Given the description of an element on the screen output the (x, y) to click on. 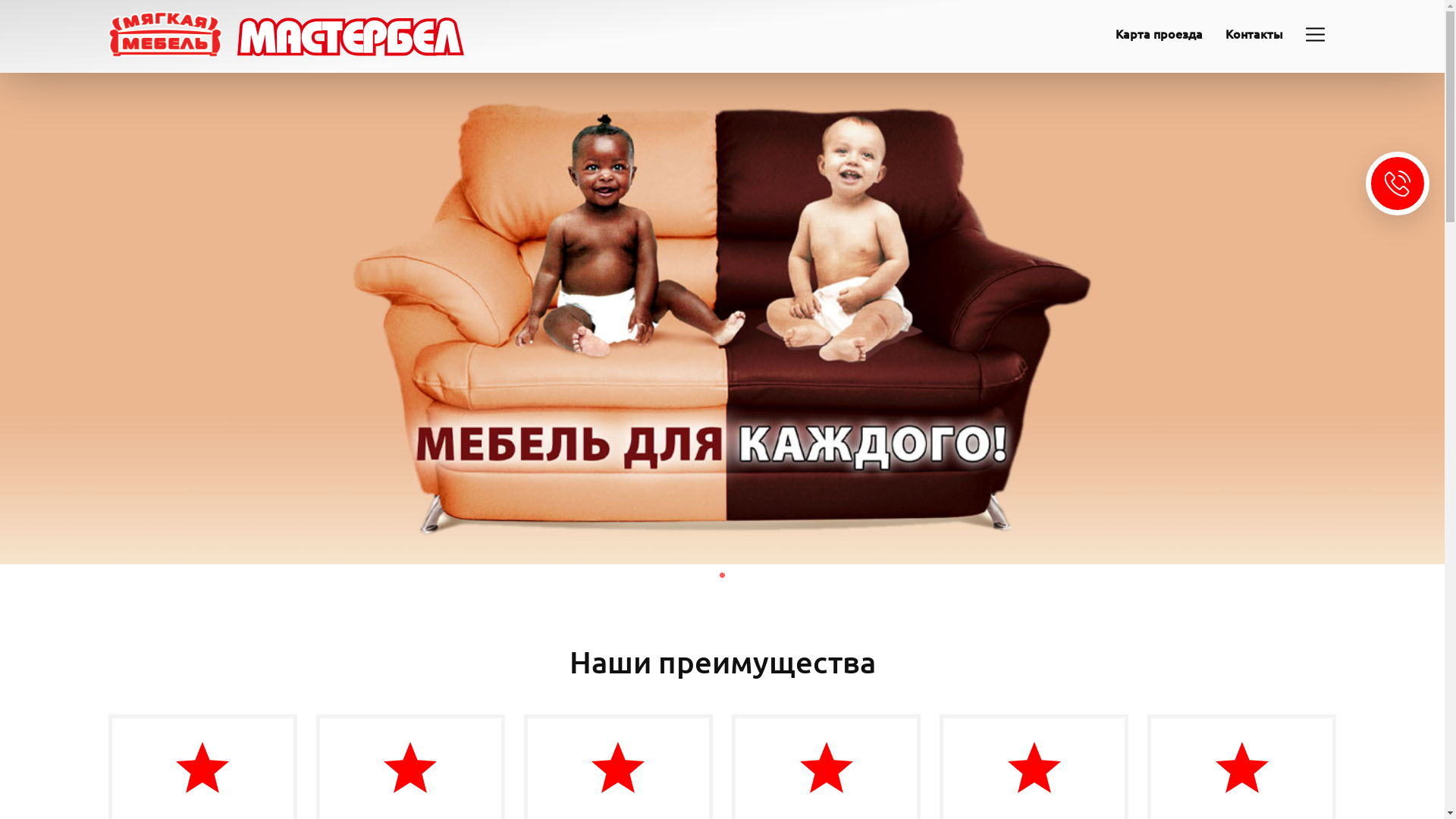
1 Element type: text (721, 575)
